Given the description of an element on the screen output the (x, y) to click on. 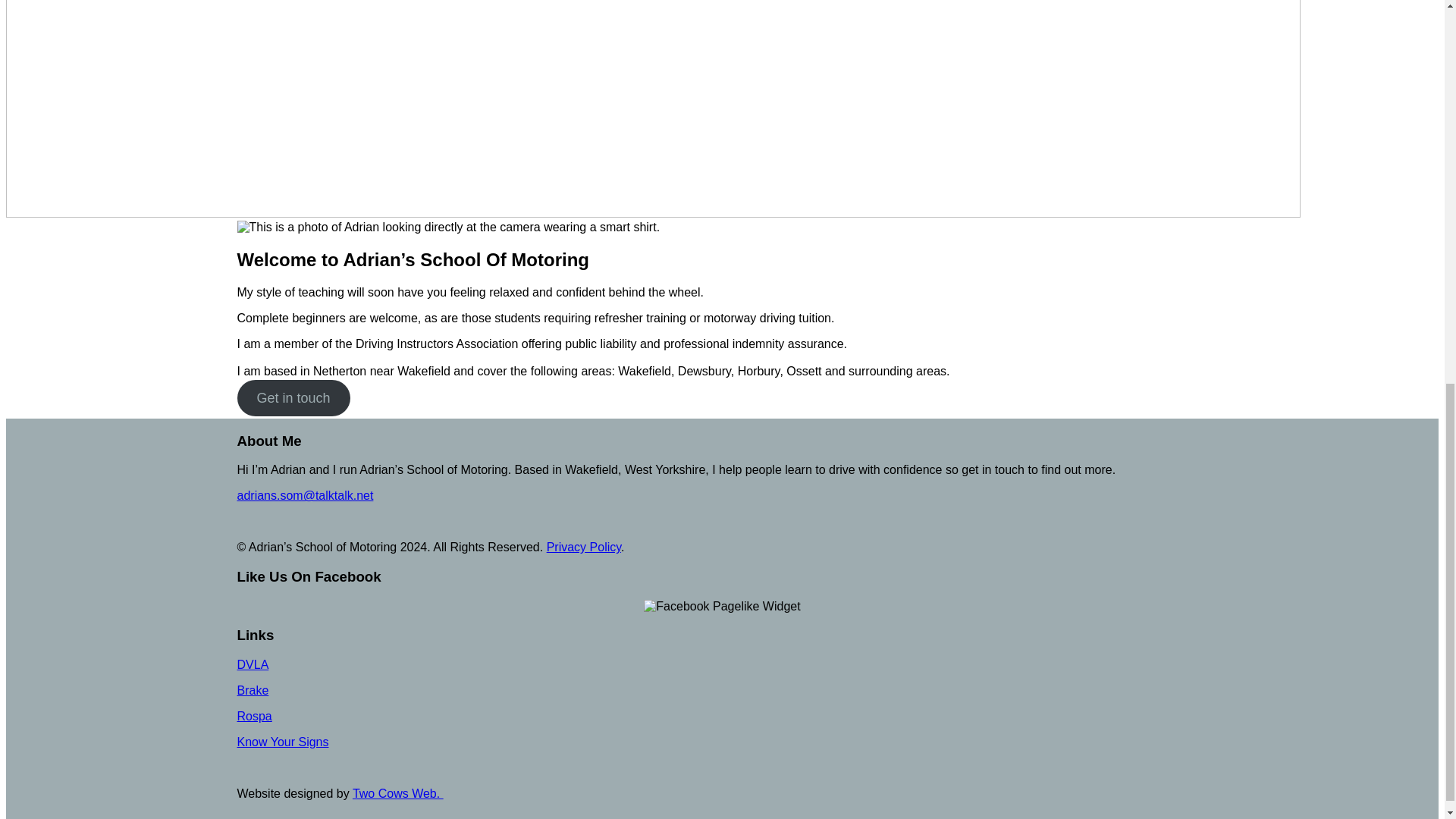
Get in touch (292, 398)
DVLA (251, 664)
Rospa (252, 716)
Know Your Signs (282, 741)
Brake (251, 689)
Two Cows Web.  (398, 793)
Privacy Policy (584, 546)
